Given the description of an element on the screen output the (x, y) to click on. 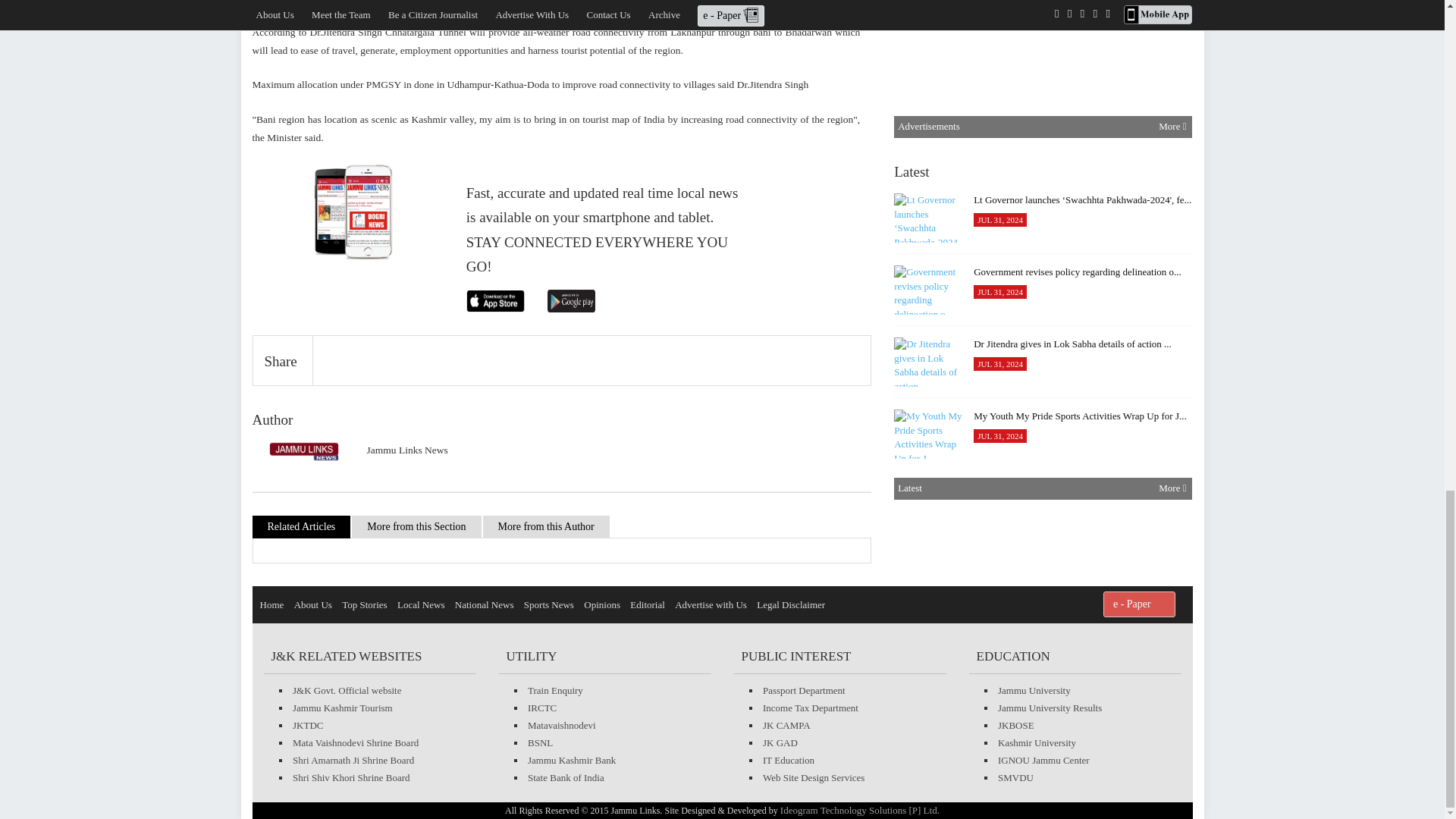
Dr Jitendra gives in Lok Sabha details of action ... (927, 361)
Government revises policy regarding delineation o... (927, 289)
DPS hosts discussion-cum-sensitization session (927, 12)
NDRF conducts mock earthquake, landslide exercise... (927, 71)
DC Udhampur presides over weekly Block Diwas prog... (927, 721)
Eastern Ladakh row: India, China hold  (927, 505)
Manipur: Opposition holds protest in Parliament p... (927, 143)
My Youth My Pride Sports Activities Wrap Up for J... (927, 433)
Inter-Zonal district level tournament concludes a... (927, 649)
